Given the description of an element on the screen output the (x, y) to click on. 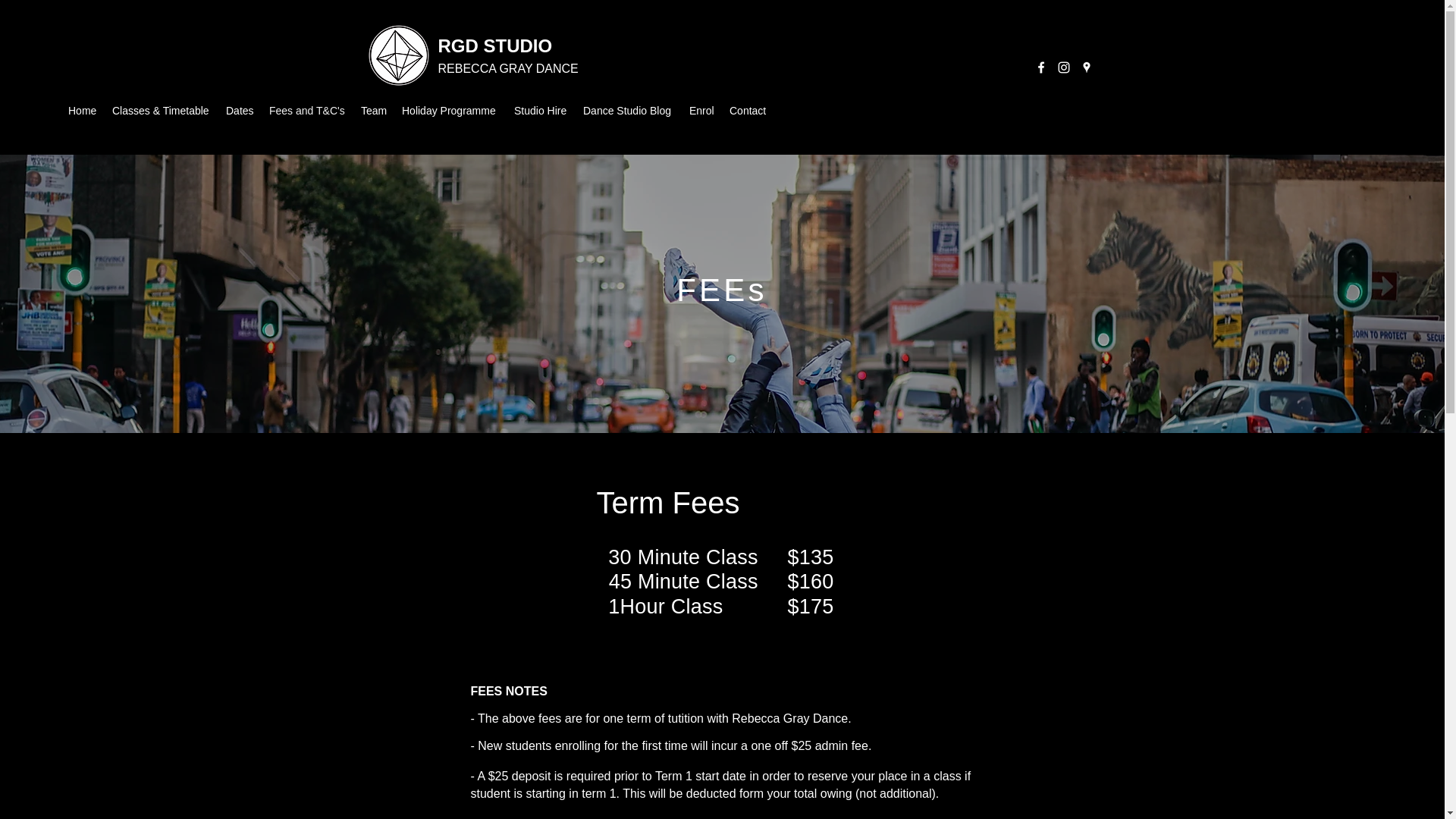
Dates (240, 111)
Home (82, 111)
Studio Hire (540, 111)
Team (373, 111)
Dance Studio Blog (628, 111)
Holiday Programme (450, 111)
Enrol (701, 111)
Contact (748, 111)
